Given the description of an element on the screen output the (x, y) to click on. 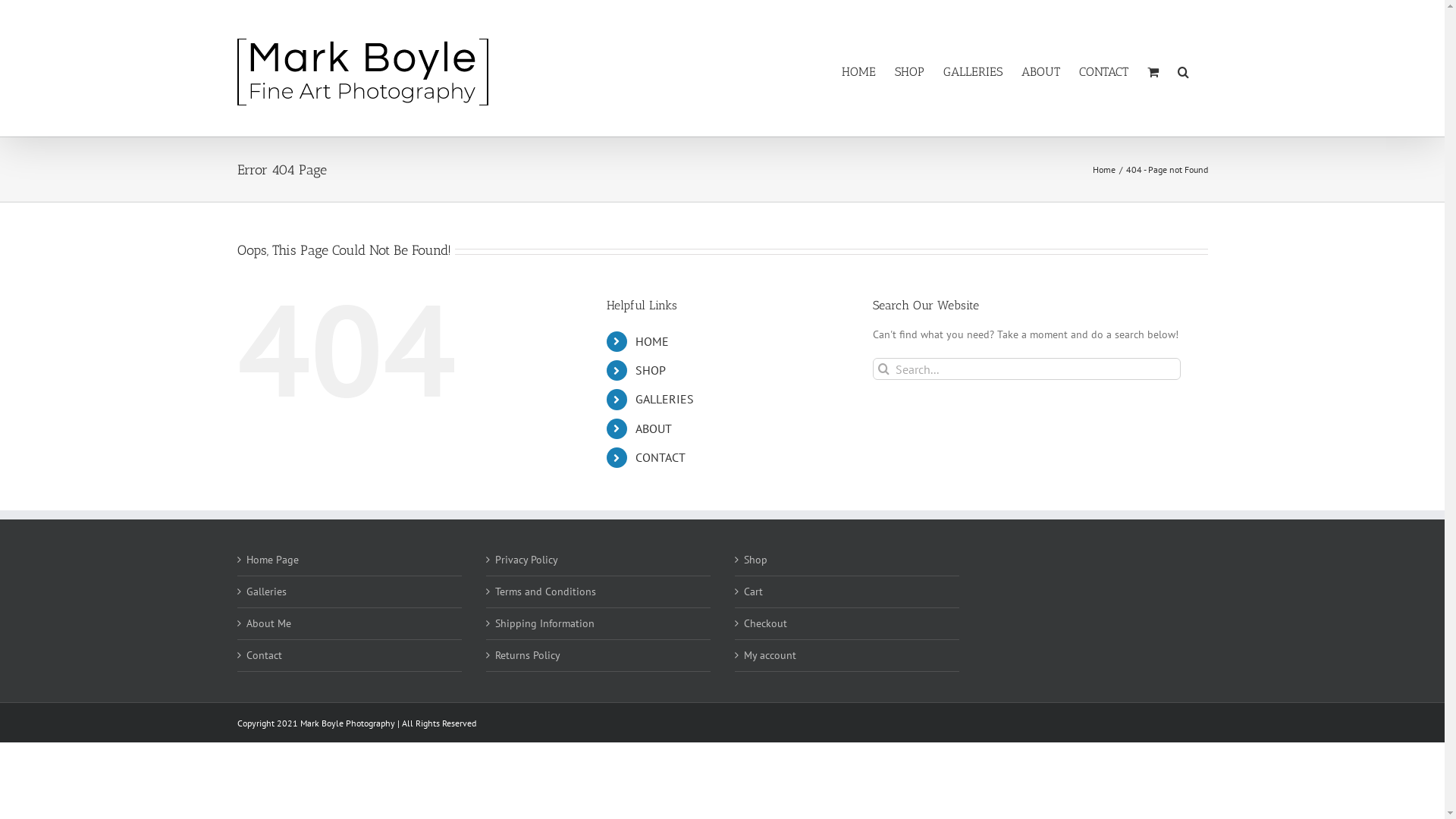
Cart Element type: text (846, 591)
Home Page Element type: text (349, 559)
SHOP Element type: text (650, 369)
Shipping Information Element type: text (598, 623)
Checkout Element type: text (846, 623)
Search Element type: hover (1182, 71)
Returns Policy Element type: text (598, 655)
About Me Element type: text (349, 623)
CONTACT Element type: text (1102, 71)
Home Element type: text (1103, 169)
Galleries Element type: text (349, 591)
HOME Element type: text (858, 71)
Terms and Conditions Element type: text (598, 591)
ABOUT Element type: text (653, 428)
SHOP Element type: text (909, 71)
GALLERIES Element type: text (664, 398)
GALLERIES Element type: text (972, 71)
My account Element type: text (846, 655)
HOME Element type: text (651, 340)
Shop Element type: text (846, 559)
Contact Element type: text (349, 655)
Privacy Policy Element type: text (598, 559)
ABOUT Element type: text (1039, 71)
CONTACT Element type: text (660, 456)
